Given the description of an element on the screen output the (x, y) to click on. 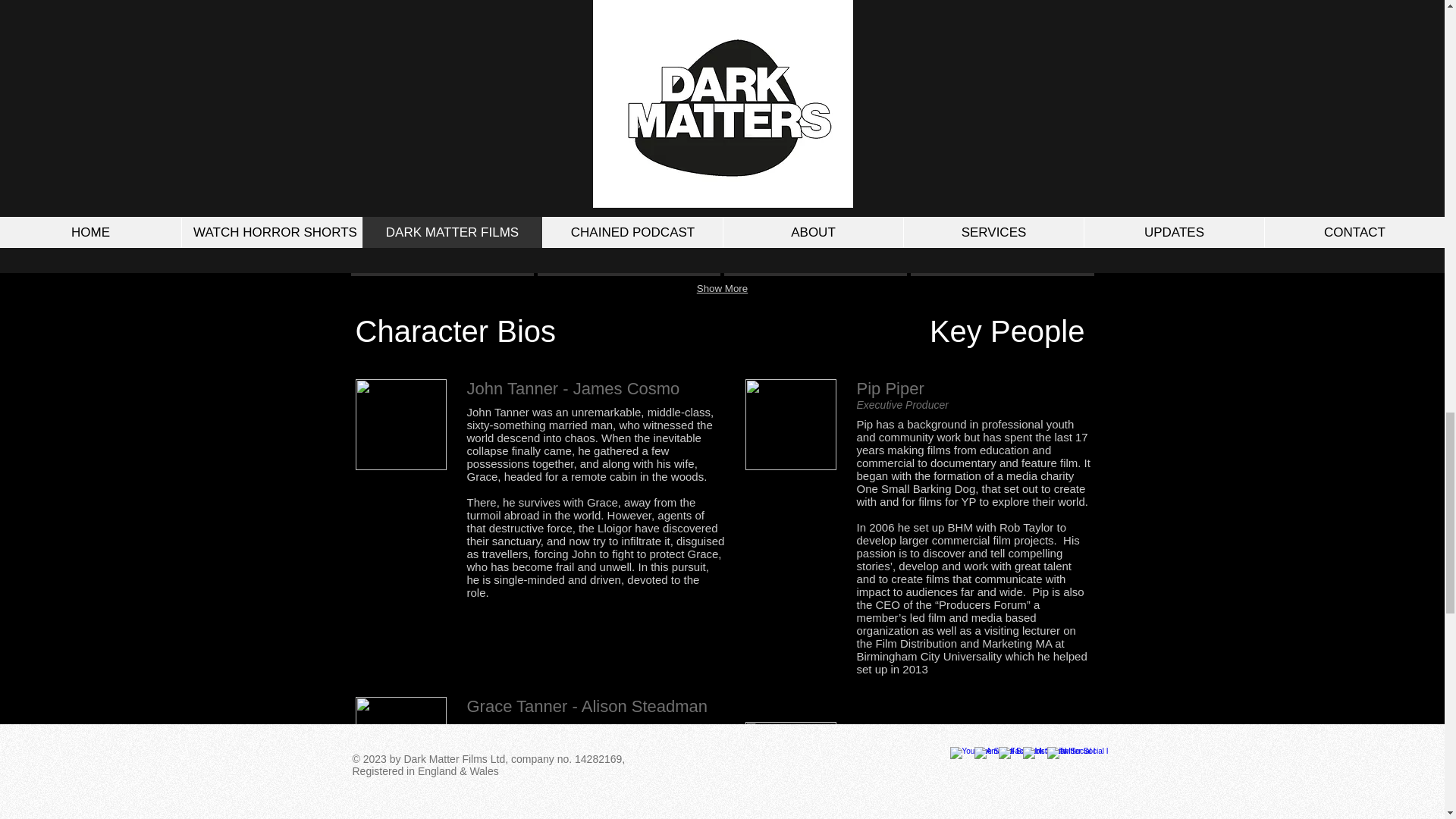
Paul Ullah.jpg (789, 767)
James Cosmo.jpg (400, 424)
Alison Steadman.jpg (400, 741)
Show More (721, 289)
